Given the description of an element on the screen output the (x, y) to click on. 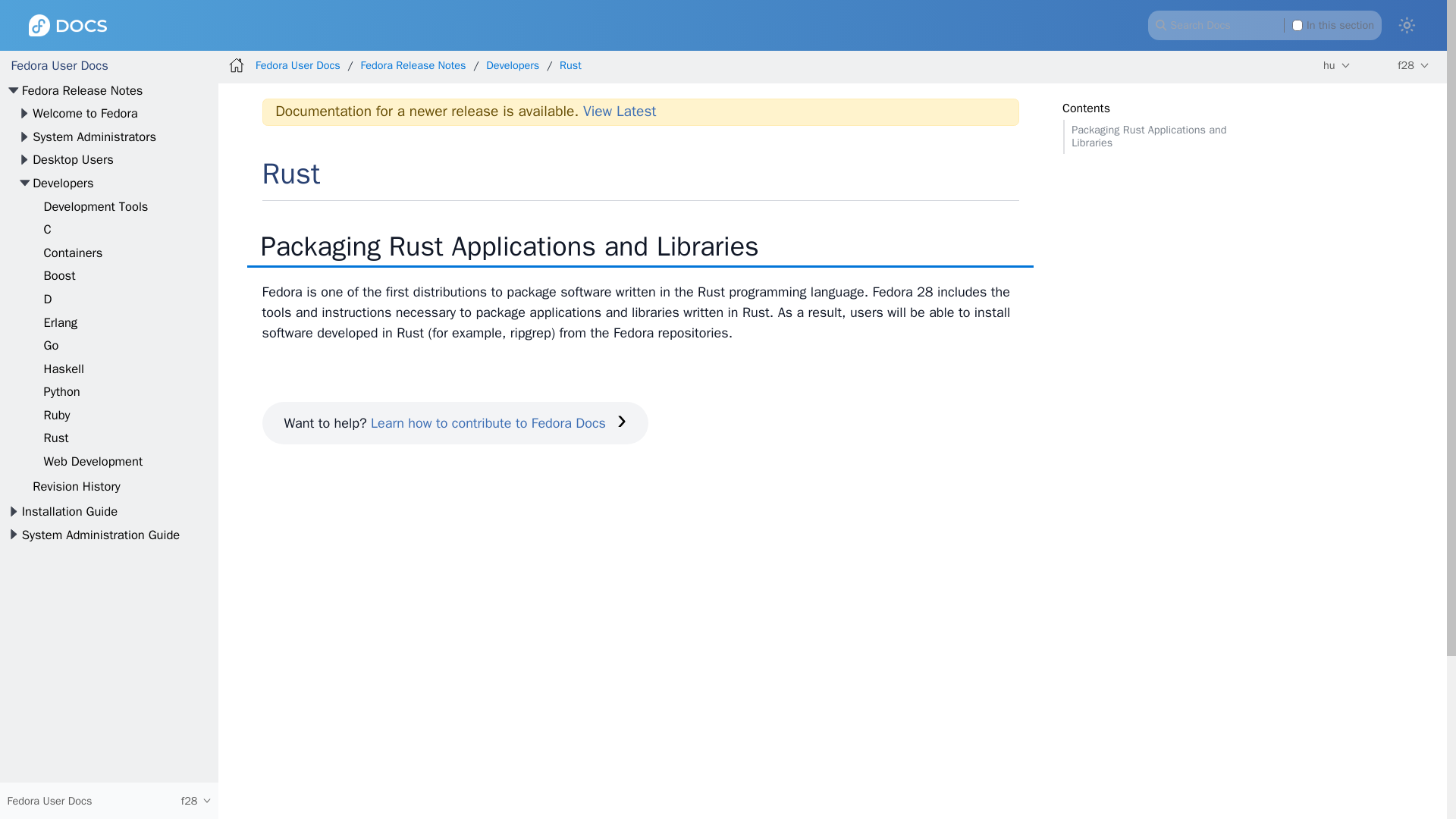
Boost (59, 275)
Ruby (56, 415)
Python (61, 391)
Rust (55, 437)
Containers (73, 252)
on (1297, 24)
Welcome to Fedora (85, 113)
Revision History (75, 486)
C (46, 229)
Installation Guide (69, 511)
Haskell (63, 368)
Web Development (92, 461)
Go (51, 344)
Erlang (60, 322)
Development Tools (95, 206)
